Given the description of an element on the screen output the (x, y) to click on. 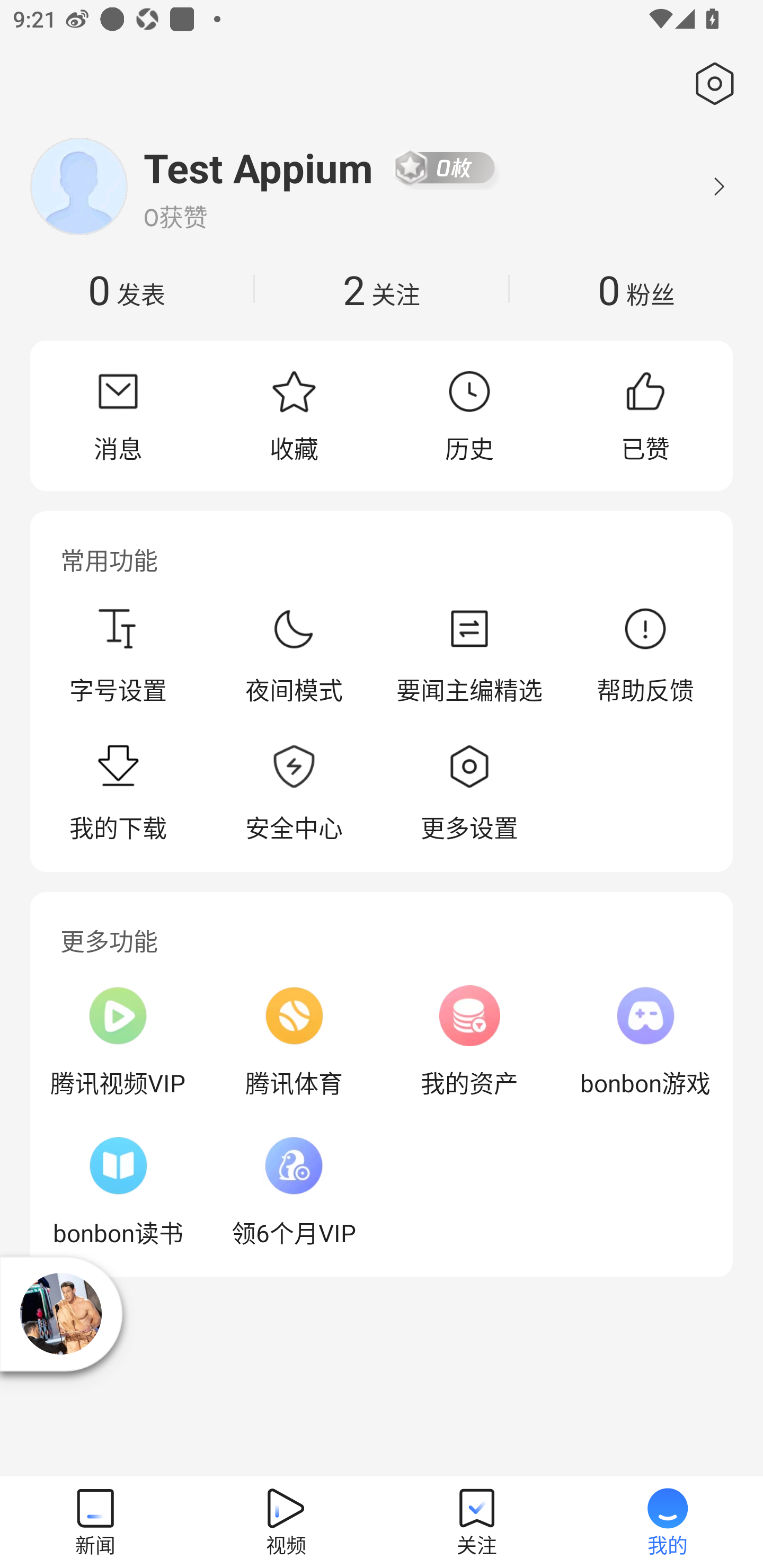
设置，可点击 (711, 83)
头像，可点击 (78, 186)
用户：Test Appium，可点击 (258, 167)
0枚勋章，可点击 (444, 167)
0发表，可点击 (126, 288)
2关注，可点击 (381, 288)
0粉丝，可点击 (636, 288)
消息，可点击 (118, 415)
收藏，可点击 (293, 415)
历史，可点击 (469, 415)
已赞，可点击 (644, 415)
字号设置，可点击 (118, 655)
夜间模式，可点击 (293, 655)
要闻主编精选，可点击 (469, 655)
帮助反馈，可点击 (644, 655)
我的下载，可点击 (118, 793)
安全中心，可点击 (293, 793)
更多设置，可点击 (469, 793)
腾讯视频VIP，可点击 (118, 1041)
腾讯体育，可点击 (293, 1041)
我的资产，可点击 (469, 1041)
bonbon游戏，可点击 (644, 1041)
bonbon读书，可点击 (118, 1191)
领6个月VIP，可点击 (293, 1191)
播放器 (60, 1312)
